Given the description of an element on the screen output the (x, y) to click on. 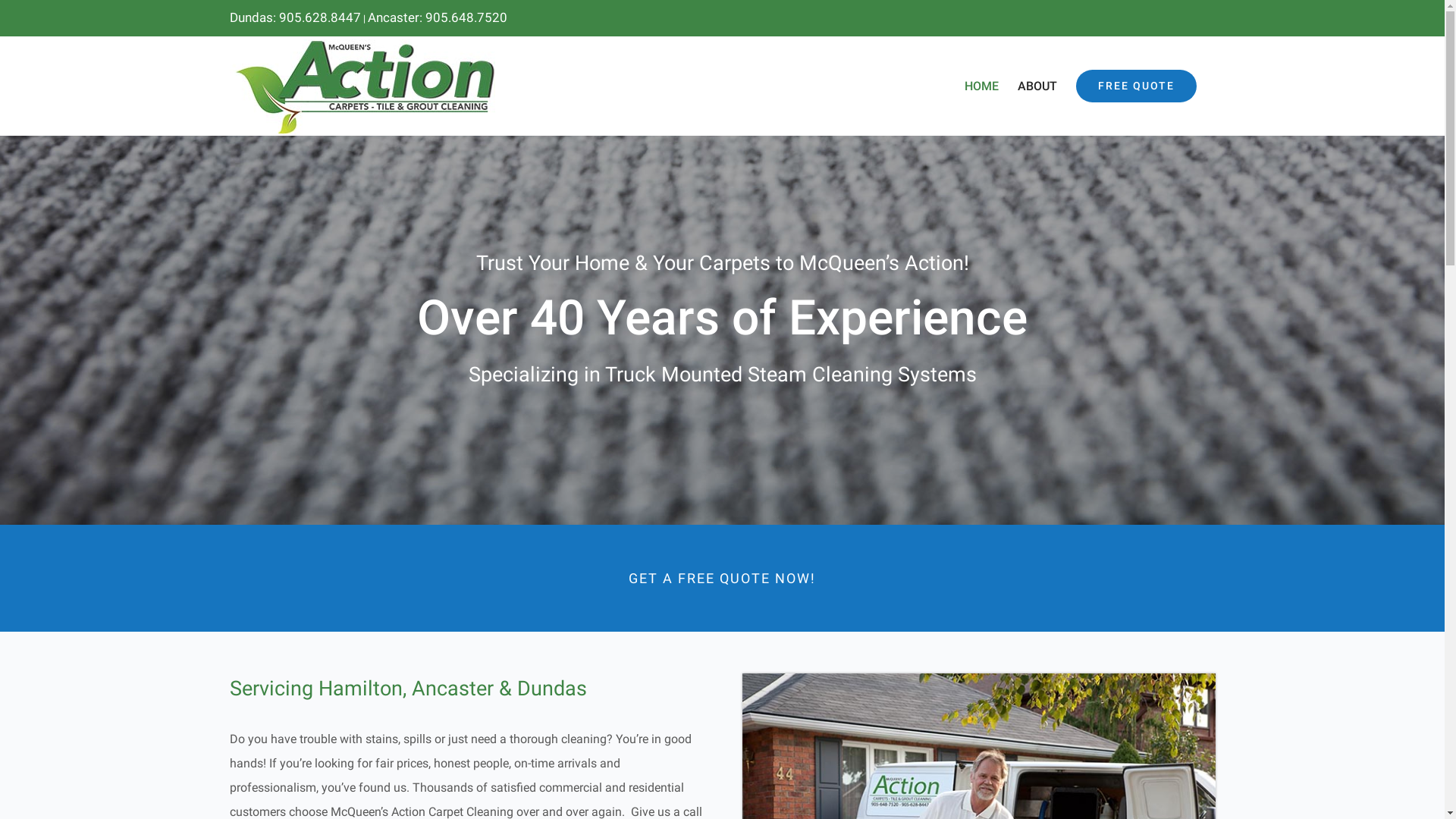
Ancaster: 905.648.7520 Element type: text (436, 17)
GET A FREE QUOTE NOW! Element type: text (722, 577)
Dundas: 905.628.8447 Element type: text (294, 17)
ABOUT Element type: text (1037, 85)
HOME Element type: text (981, 85)
FREE QUOTE Element type: text (1135, 85)
